Given the description of an element on the screen output the (x, y) to click on. 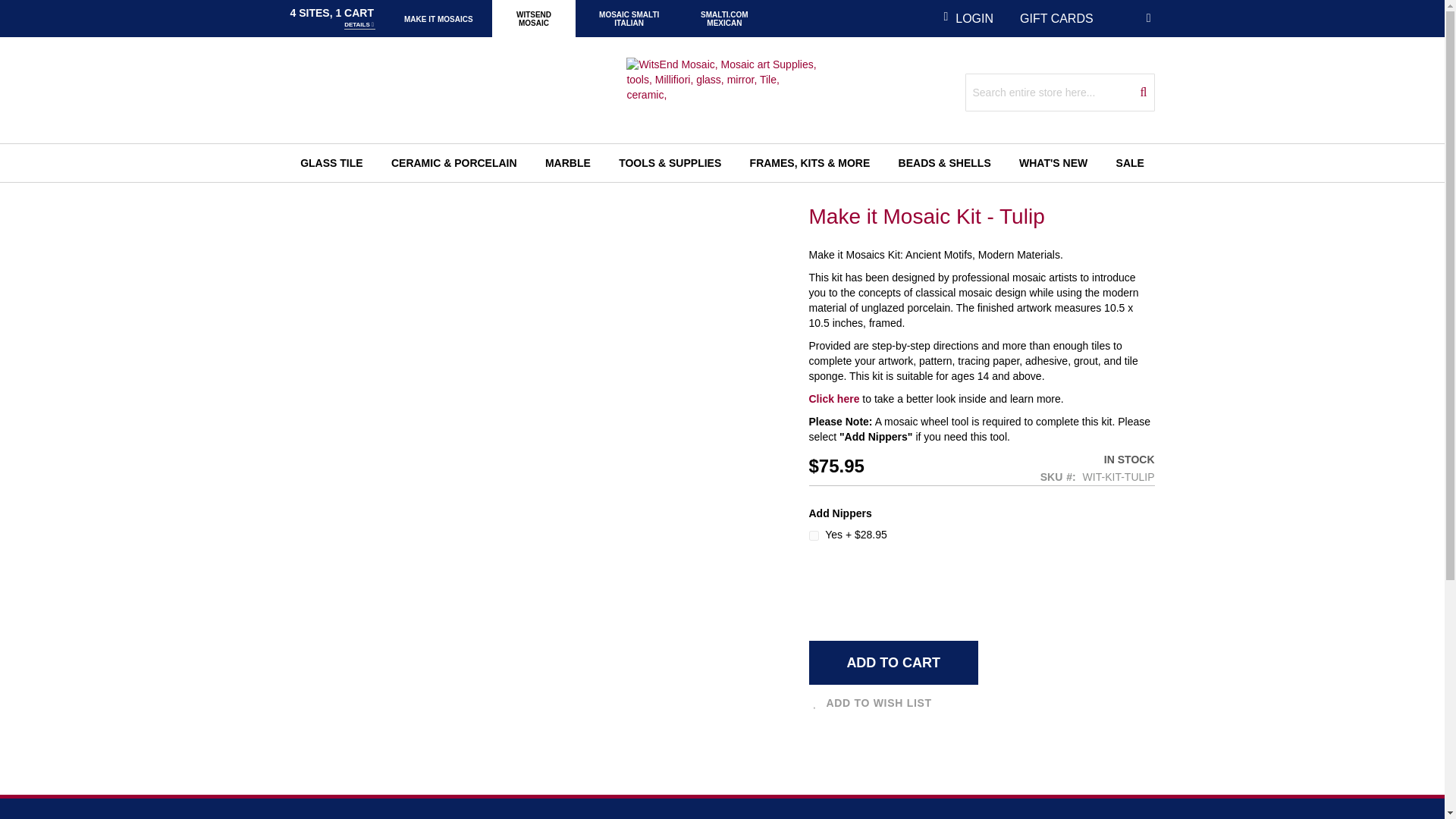
MOSAIC SMALTI ITALIAN (628, 18)
MY CART (1150, 17)
GLASS TILE (330, 162)
Add to Cart (892, 662)
Search (1143, 92)
WITSEND MOSAIC (534, 18)
MAKE IT MOSAICS (438, 18)
LOGIN (967, 18)
SEARCH (1143, 92)
GIFT CARDS (1056, 18)
SMALTI.COM MEXICAN (724, 18)
YouTube Kits (833, 398)
Availability (1026, 459)
31347 (813, 535)
